Given the description of an element on the screen output the (x, y) to click on. 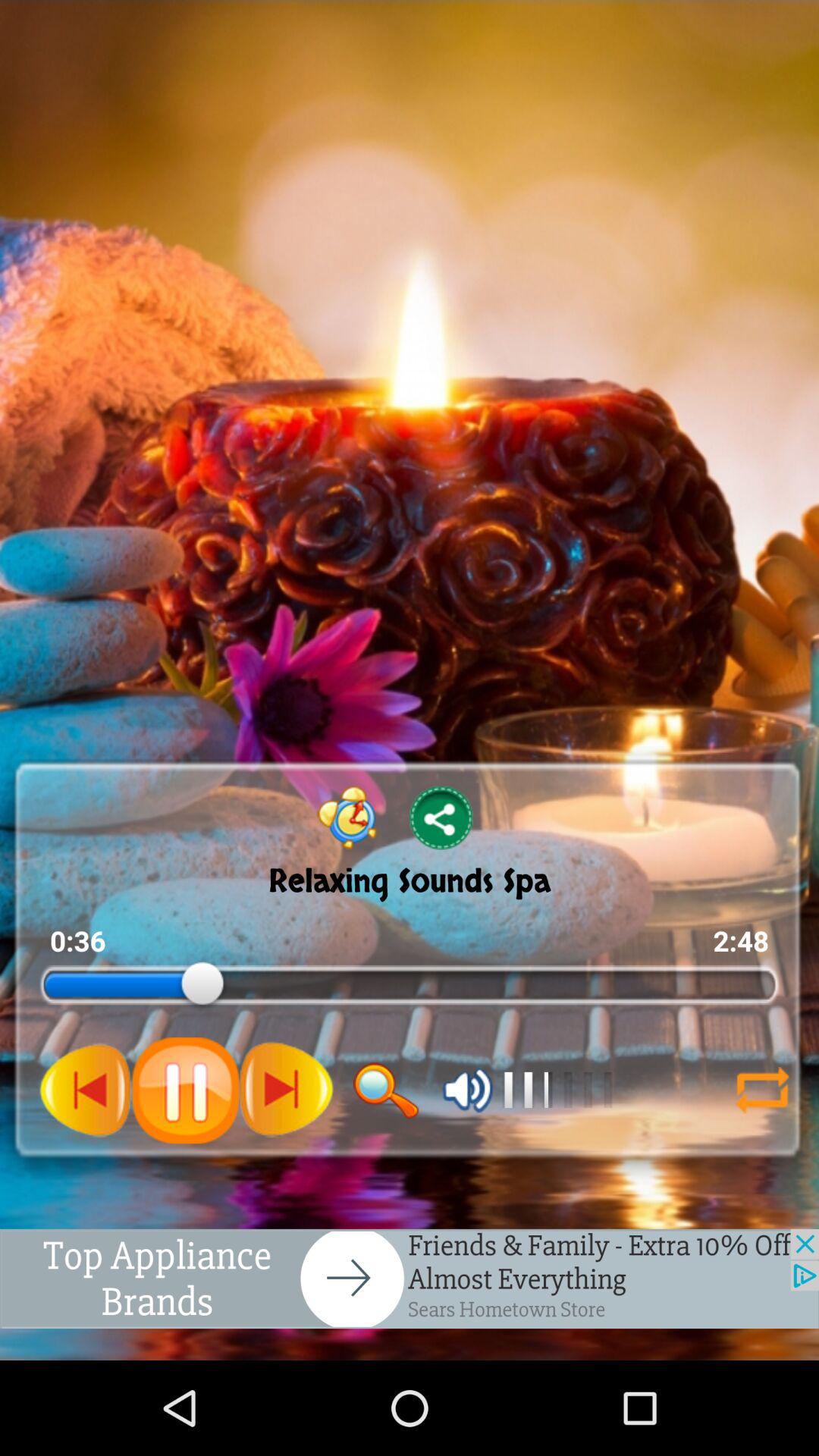
click to the next button (285, 1090)
